Given the description of an element on the screen output the (x, y) to click on. 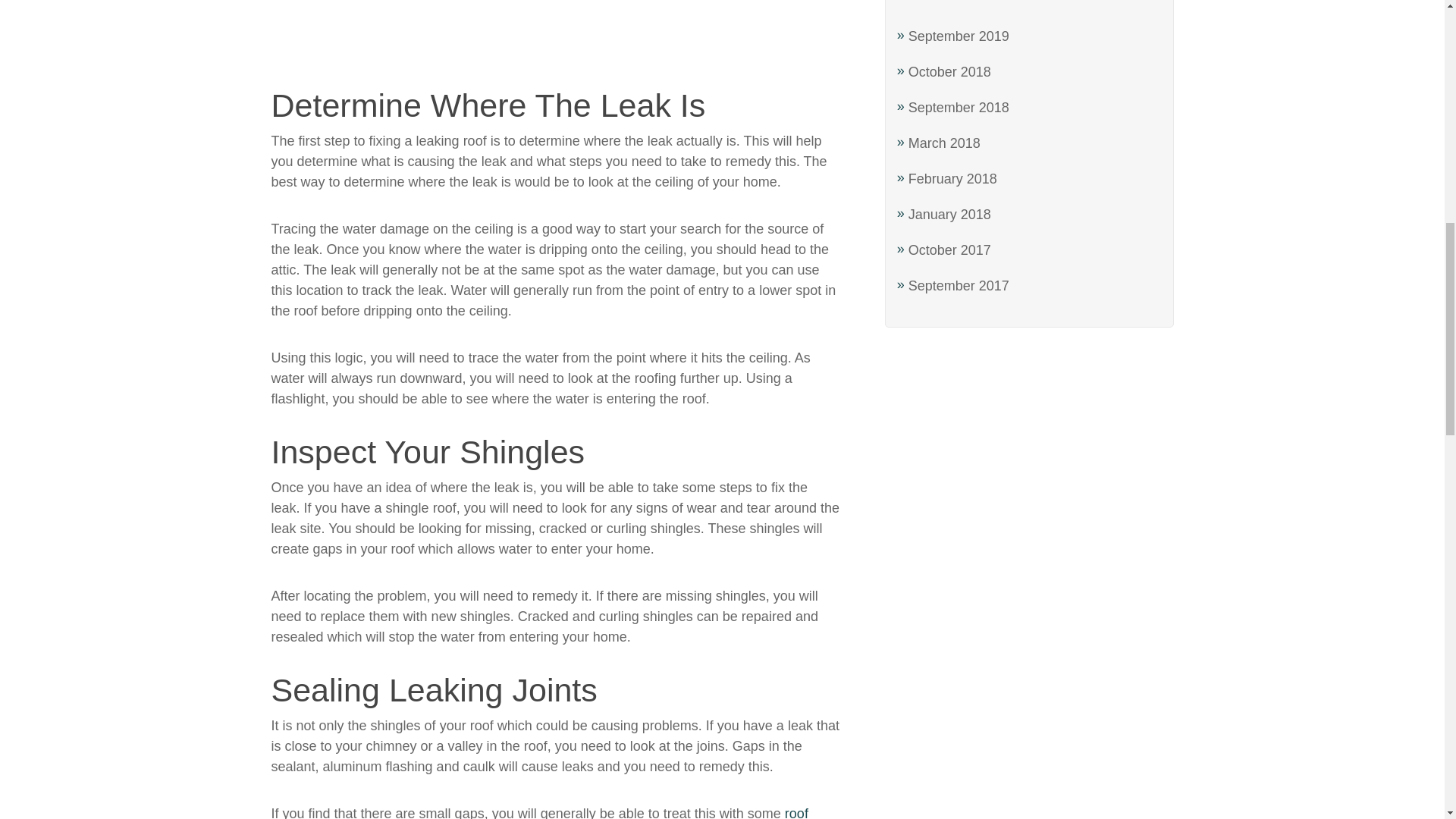
roof sealant (539, 812)
October 2018 (949, 71)
October 2017 (949, 249)
March 2018 (943, 142)
September 2018 (958, 107)
September 2017 (958, 285)
January 2018 (949, 214)
September 2019 (958, 36)
February 2018 (952, 178)
